Given the description of an element on the screen output the (x, y) to click on. 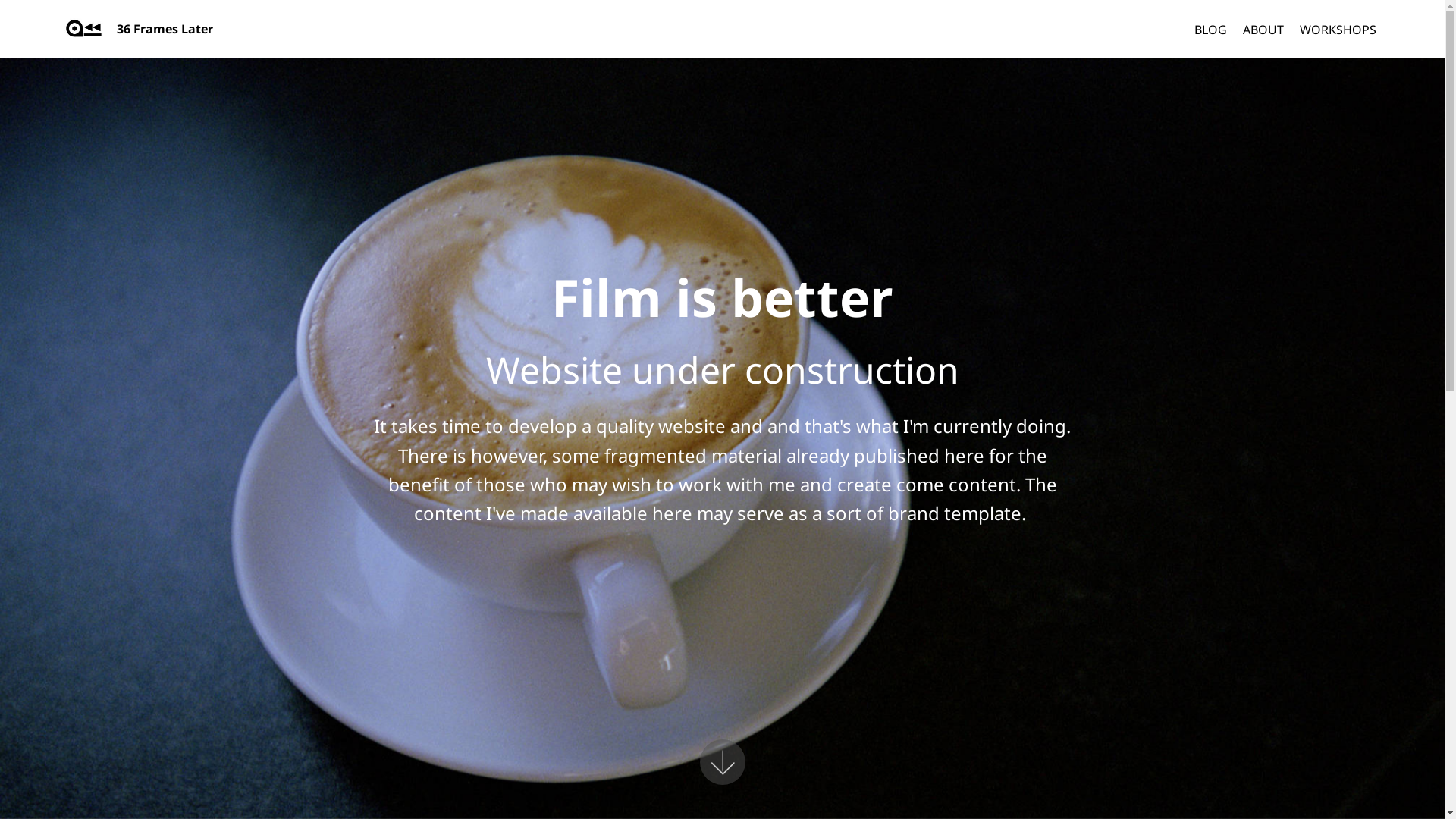
ABOUT Element type: text (1262, 28)
BLOG Element type: text (1210, 28)
CONTACT Element type: text (1103, 656)
ABOUT Element type: text (1046, 656)
WORKSHOPS Element type: text (1337, 28)
36 Frames Later Element type: text (176, 28)
